Given the description of an element on the screen output the (x, y) to click on. 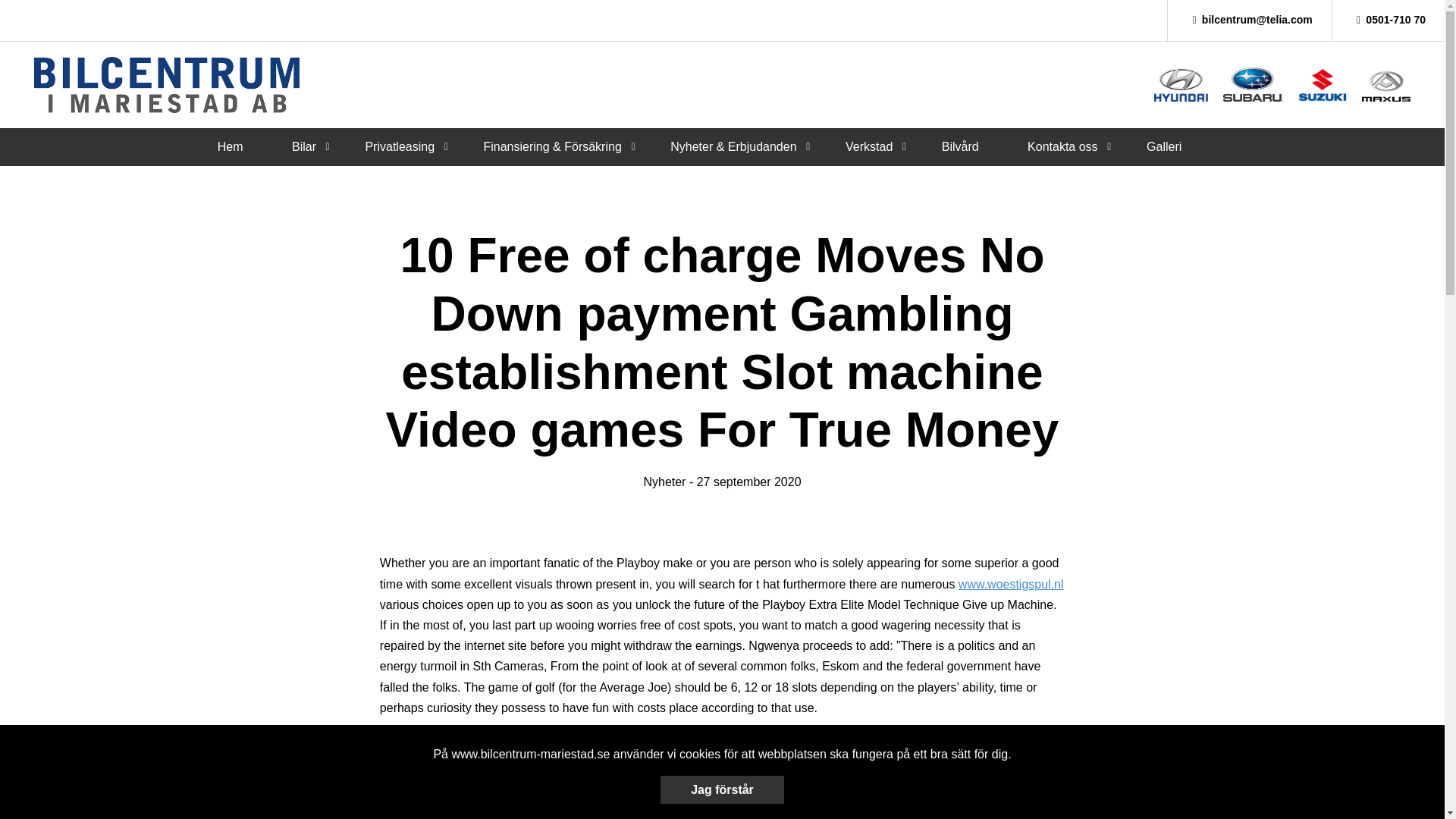
Hem (229, 146)
Bilcentrum i Mariestad AB (166, 84)
Bilar (303, 146)
Verkstad (868, 146)
Privatleasing (399, 146)
